Given the description of an element on the screen output the (x, y) to click on. 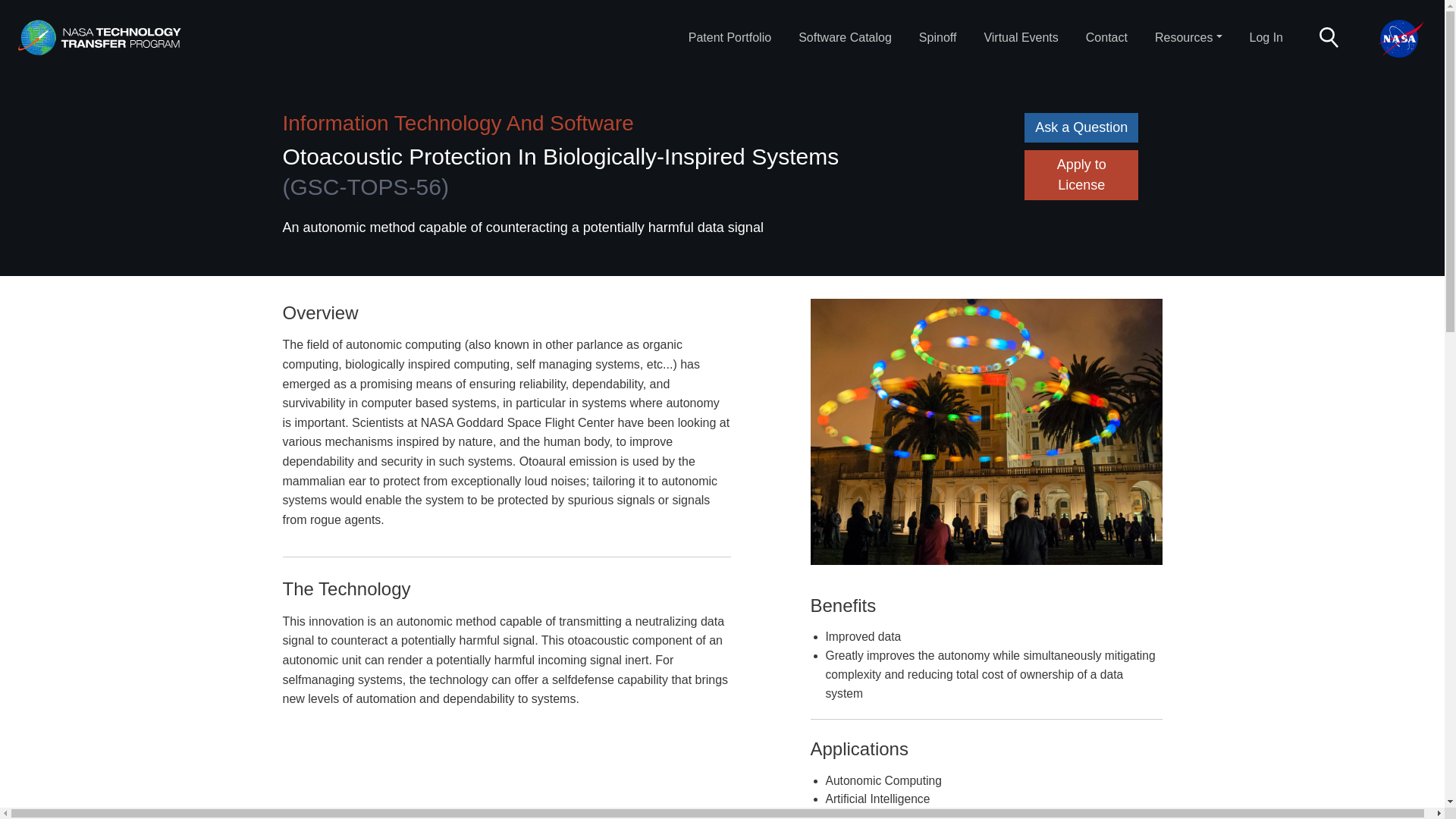
Software Catalog (845, 37)
Log In (1265, 37)
Virtual Events (1020, 37)
Resources (1188, 37)
Contact (1107, 37)
Ask a Question (1080, 127)
Patent Portfolio (729, 37)
Apply to License (1081, 174)
Spinoff (937, 37)
